Given the description of an element on the screen output the (x, y) to click on. 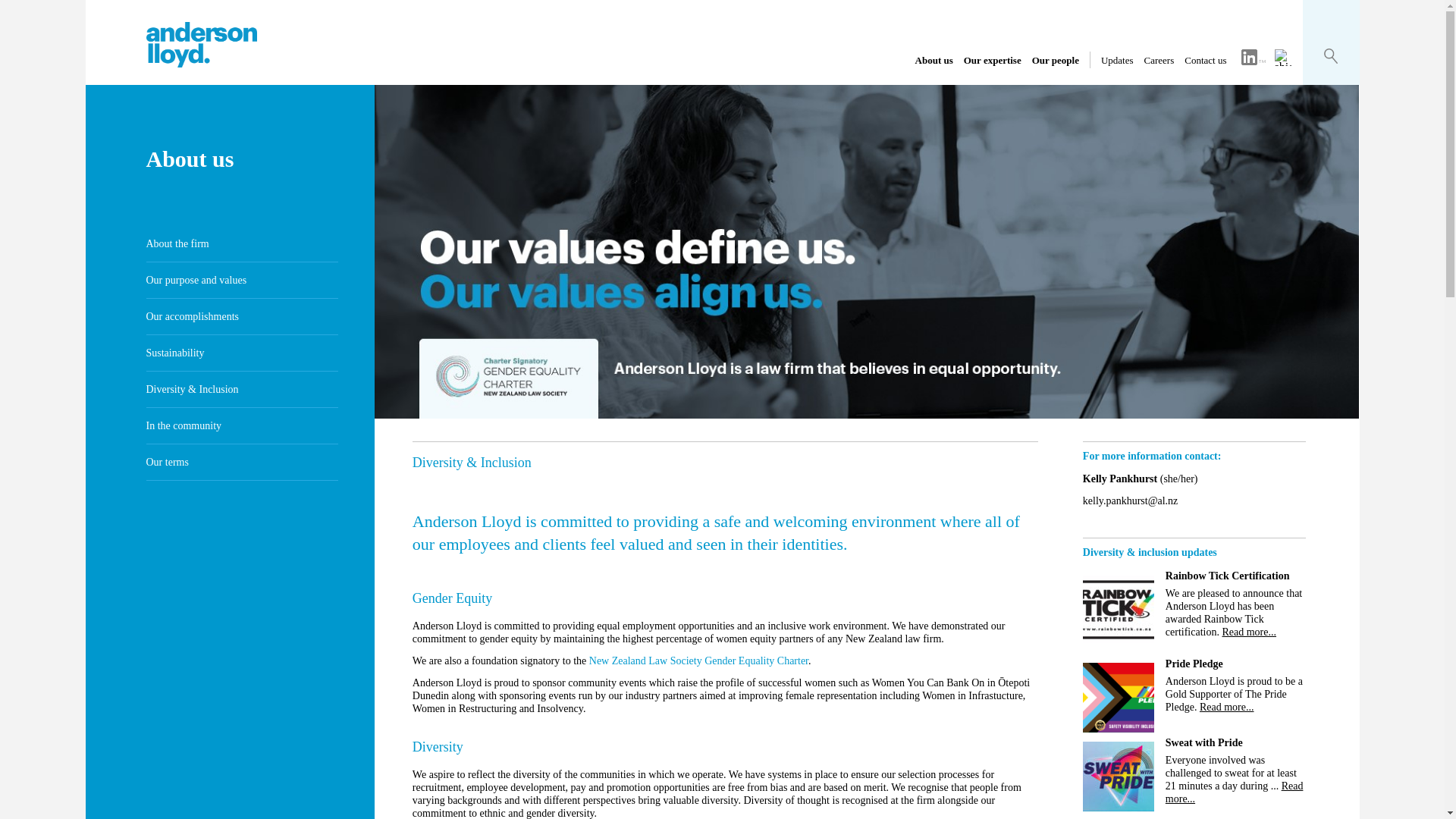
About us (934, 60)
Our expertise (992, 60)
Our people (1055, 60)
Anderson Lloyd (200, 62)
Anderson Lloyd on Linkedin (1252, 58)
